Given the description of an element on the screen output the (x, y) to click on. 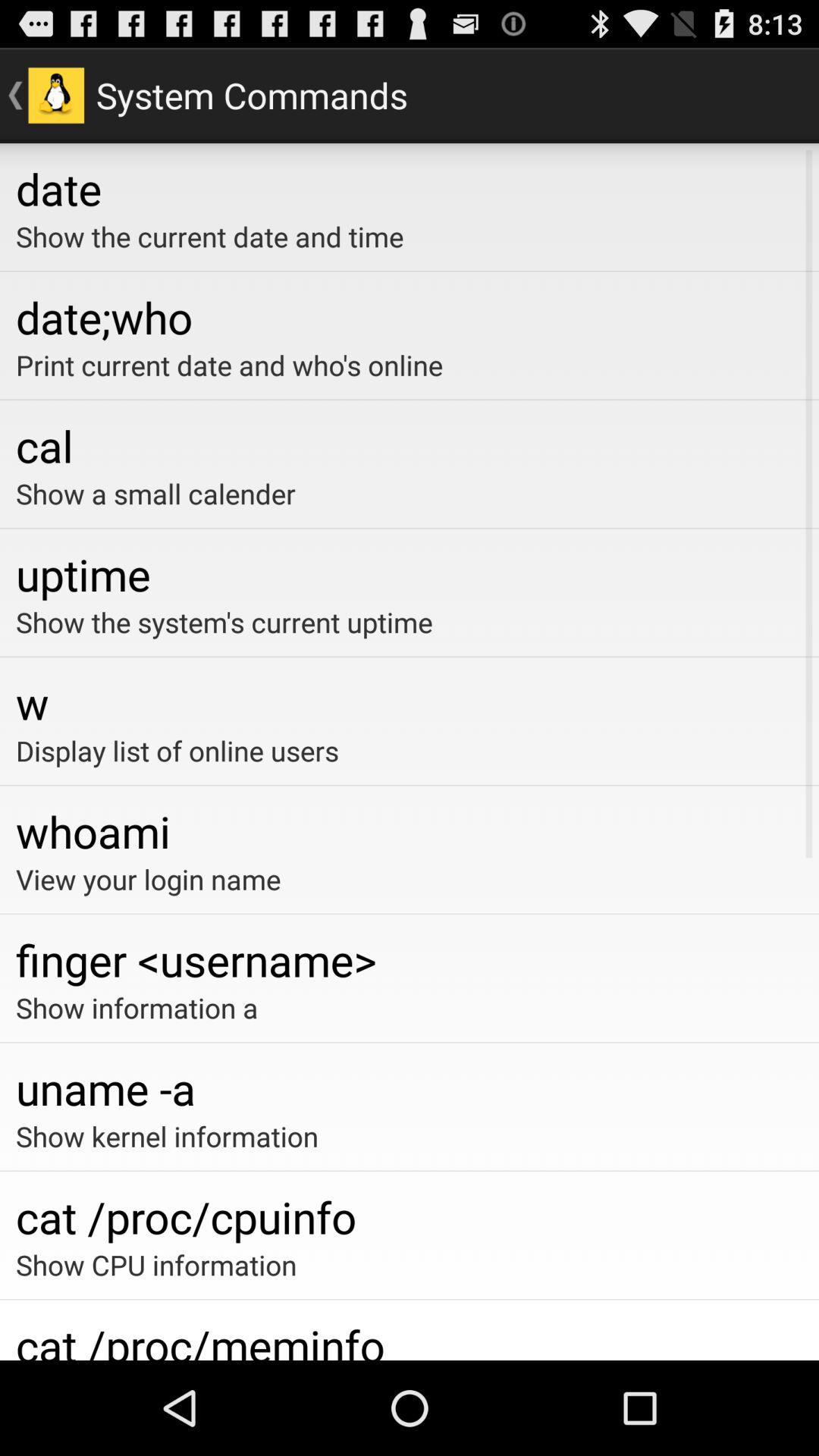
scroll until the view your login icon (409, 879)
